Given the description of an element on the screen output the (x, y) to click on. 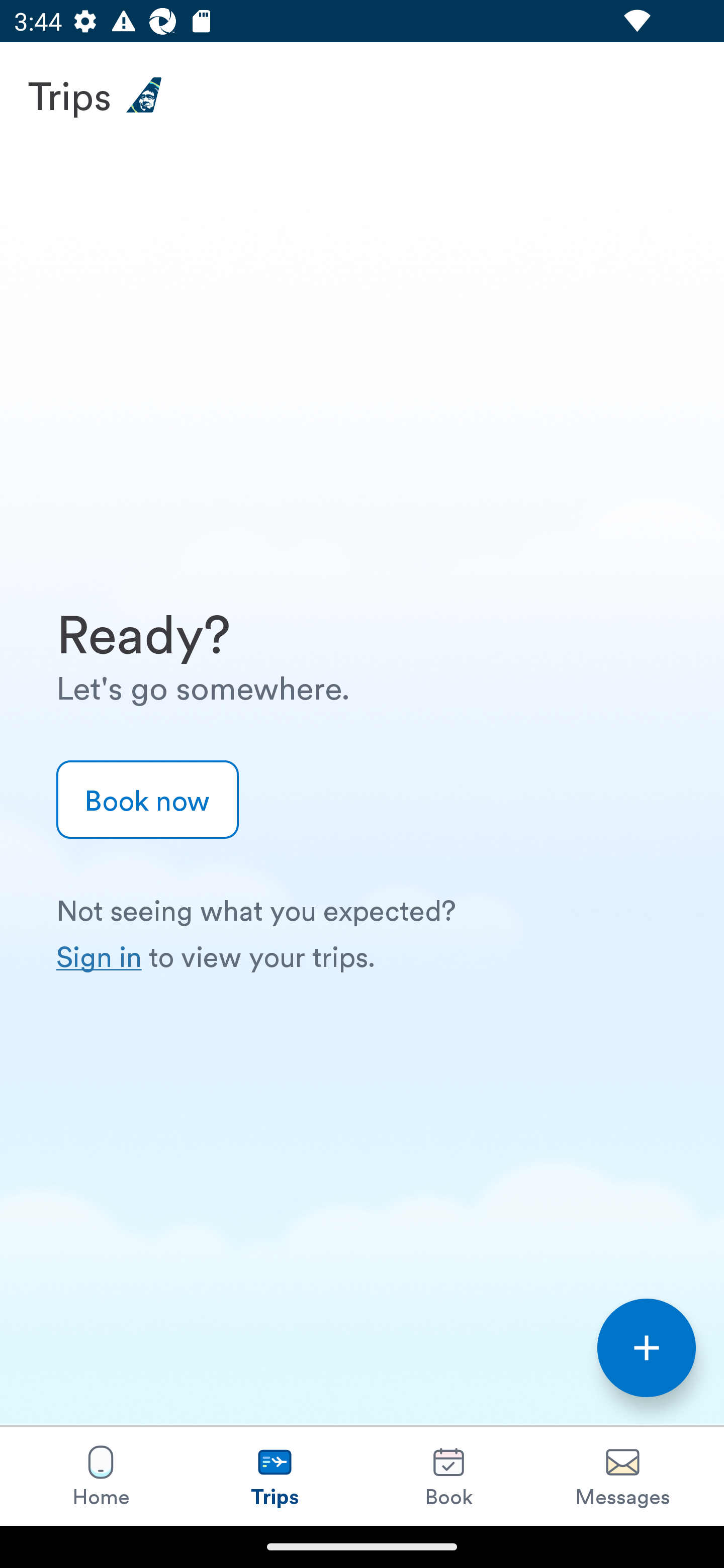
Book now (147, 799)
Home (100, 1475)
Trips (275, 1475)
Book (448, 1475)
Messages (622, 1475)
